Given the description of an element on the screen output the (x, y) to click on. 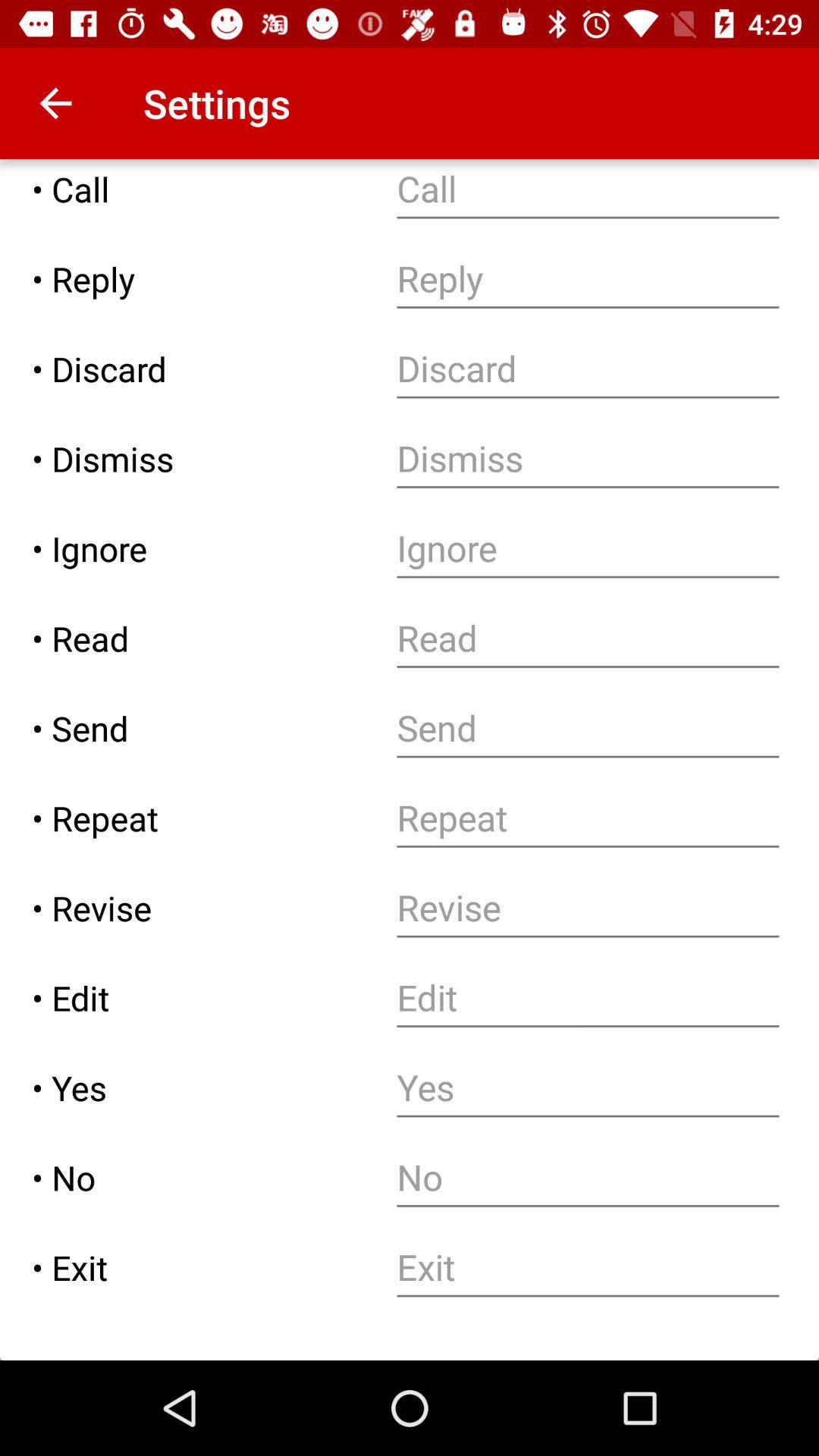
exit settings (588, 1267)
